Given the description of an element on the screen output the (x, y) to click on. 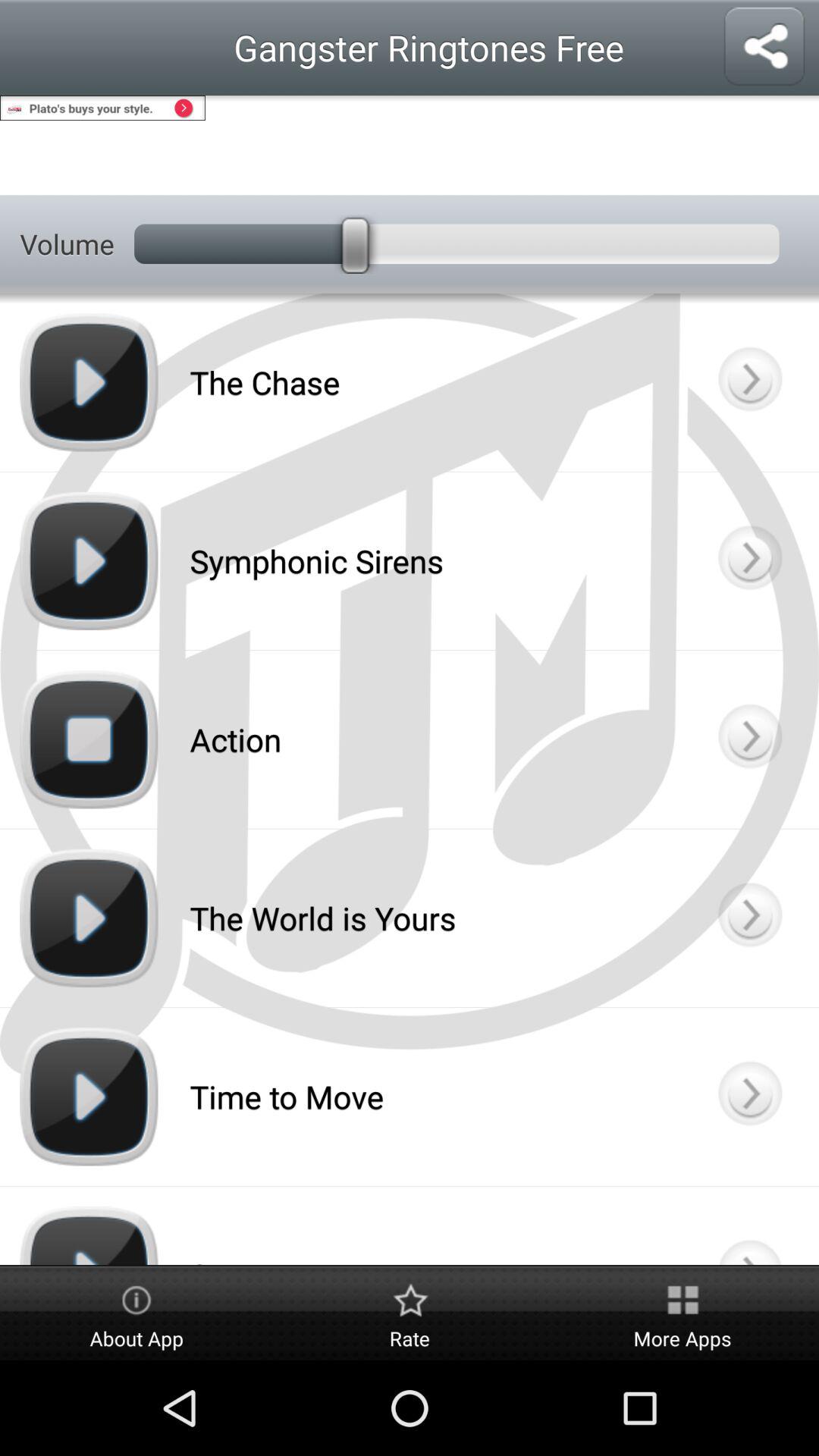
show ringtone detail (749, 382)
